Given the description of an element on the screen output the (x, y) to click on. 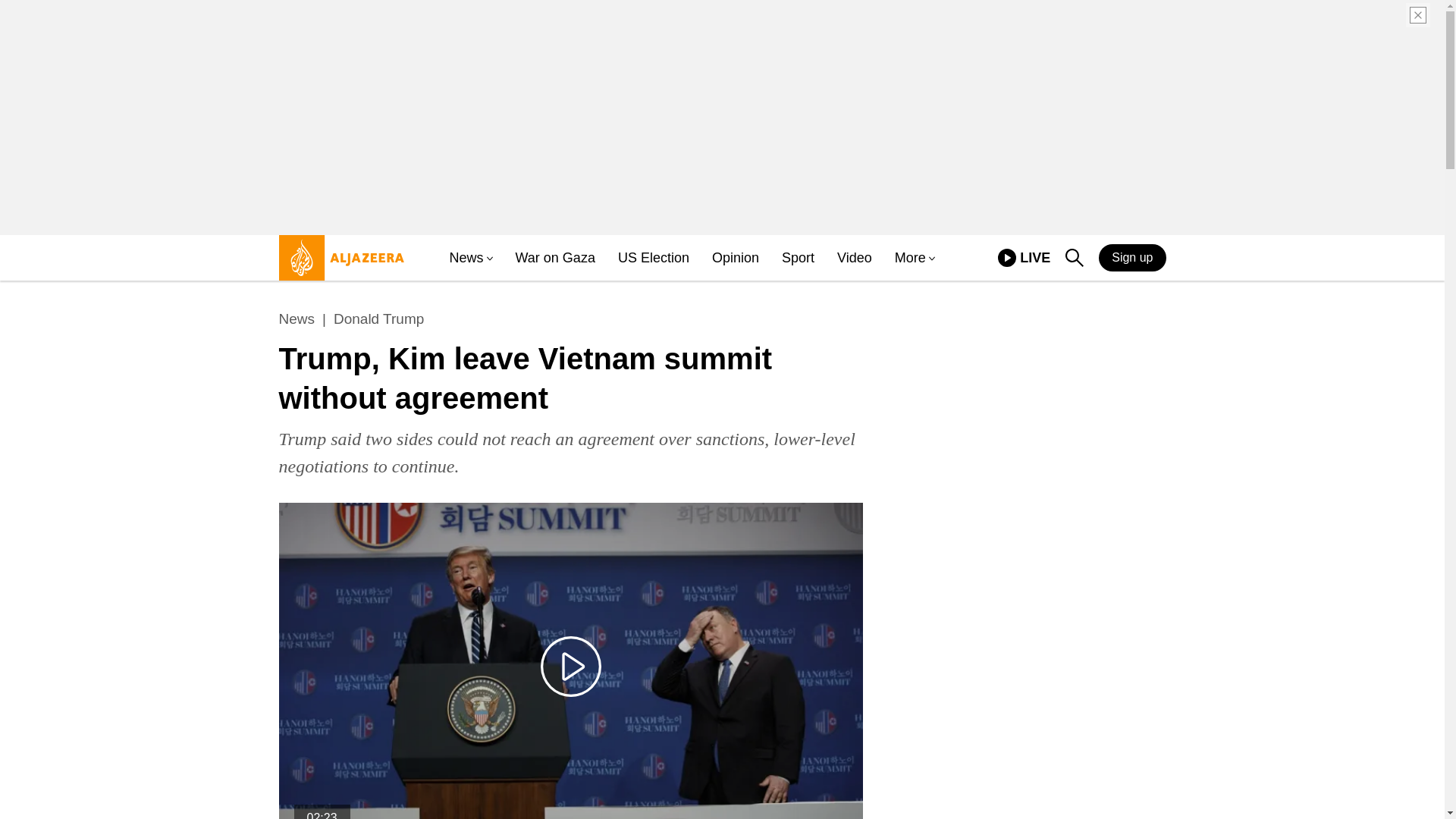
search (1074, 257)
War on Gaza (555, 257)
US Election (652, 257)
Donald Trump (378, 319)
Skip to Content (337, 264)
Sign up (1132, 257)
Video (1023, 257)
More (854, 257)
News (910, 257)
